Given the description of an element on the screen output the (x, y) to click on. 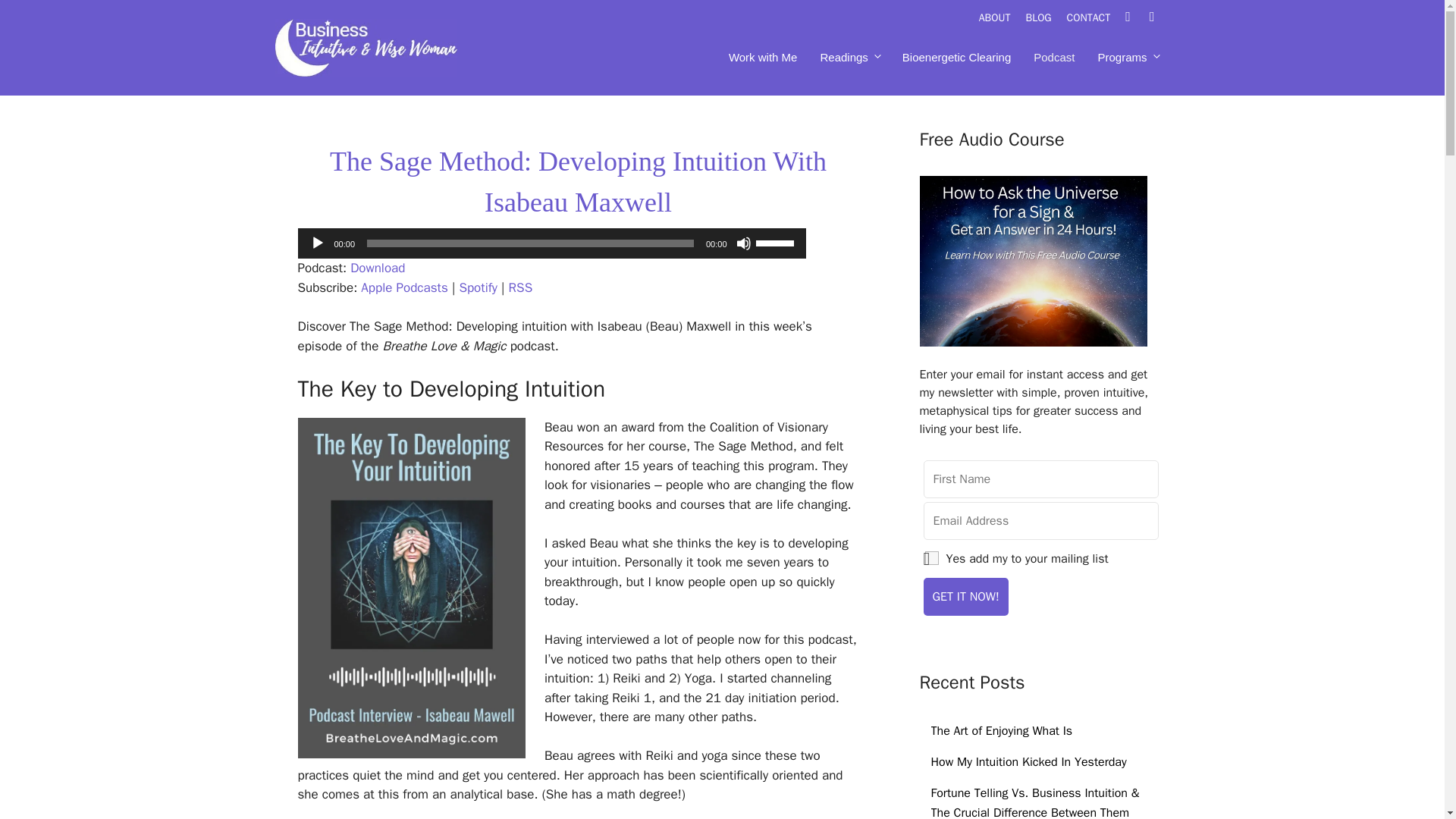
Download (377, 268)
RSS (520, 287)
Subscribe on Apple Podcasts (403, 287)
Apple Podcasts (403, 287)
Get it Now! (966, 596)
Download (377, 268)
Work with Me (763, 57)
BLOG (1045, 17)
Subscribe on Spotify (477, 287)
CONTACT (1096, 17)
Subscribe via RSS (520, 287)
Mute (743, 242)
Spotify (477, 287)
ABOUT (1002, 17)
Readings (848, 57)
